Given the description of an element on the screen output the (x, y) to click on. 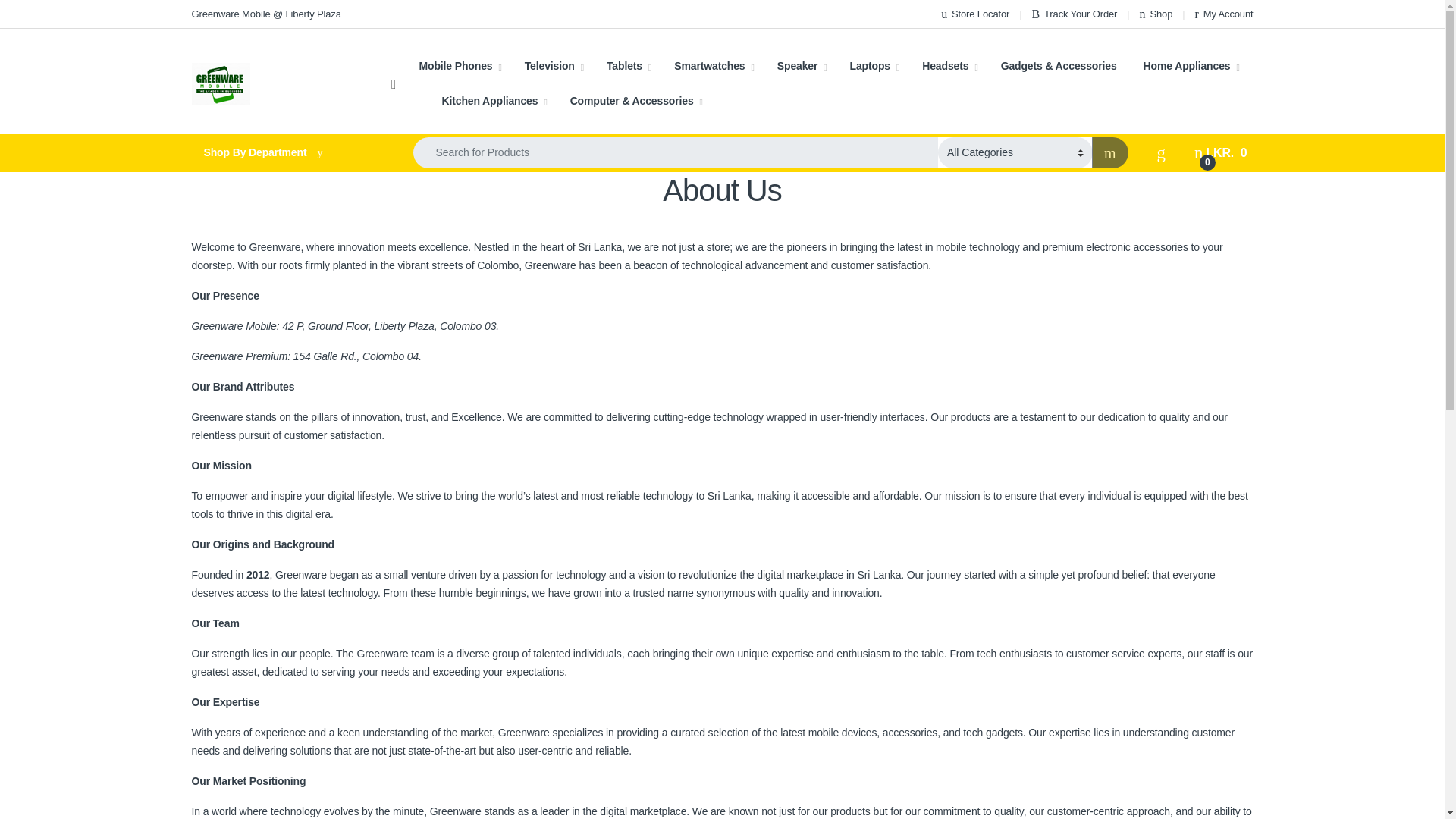
Shop (1156, 13)
Store Locator (974, 13)
Track Your Order (1073, 13)
My Account (1224, 13)
Track Your Order (1073, 13)
My Account (1224, 13)
Store Locator (974, 13)
Shop (1156, 13)
